Given the description of an element on the screen output the (x, y) to click on. 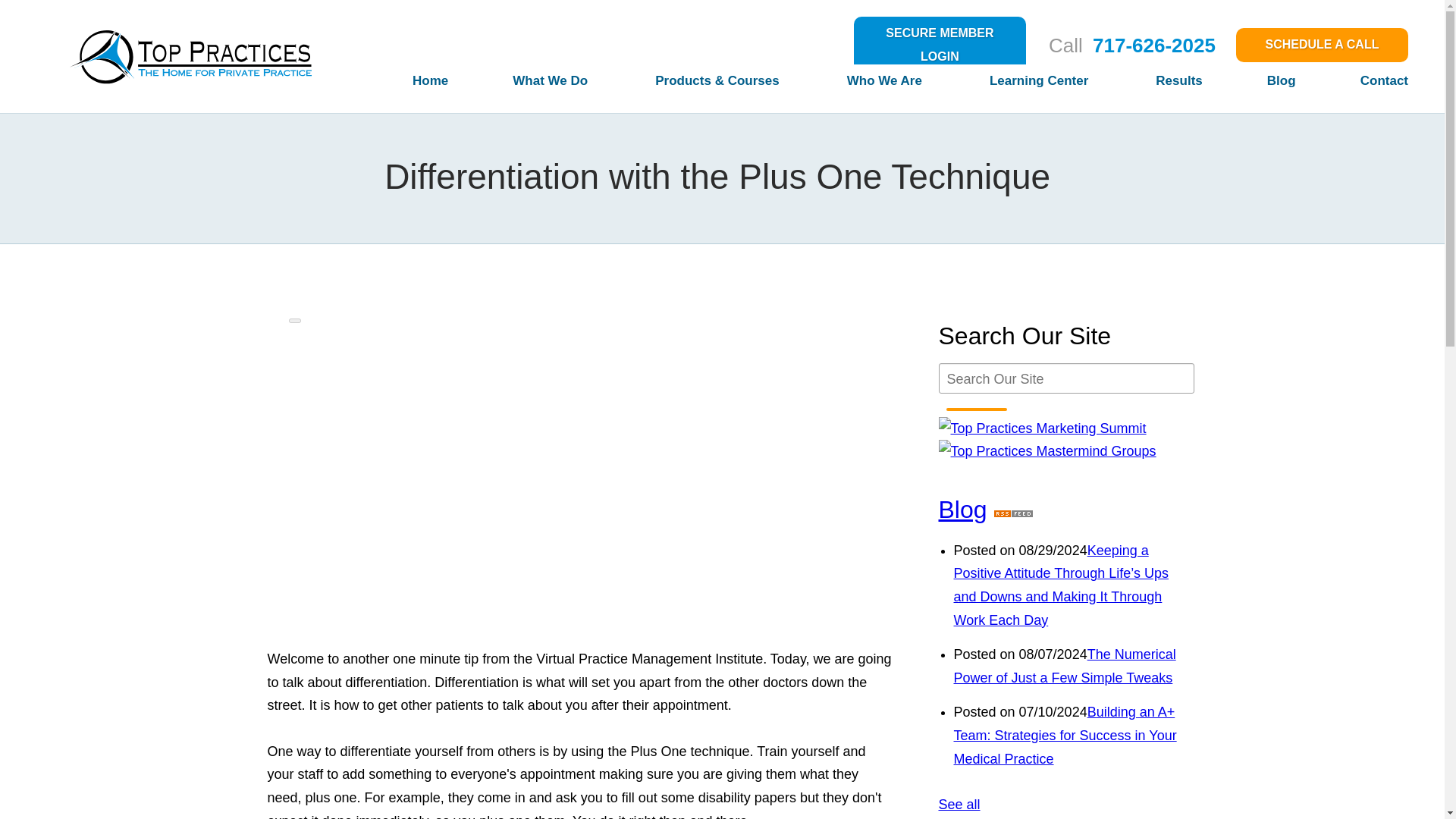
Subscribe to our RSS Feed (1012, 509)
Who We Are (853, 86)
What We Do (519, 86)
SCHEDULE A CALL (1321, 44)
Learning Center (1007, 86)
SECURE MEMBER LOGIN (939, 44)
Search (976, 409)
Home (397, 86)
